Given the description of an element on the screen output the (x, y) to click on. 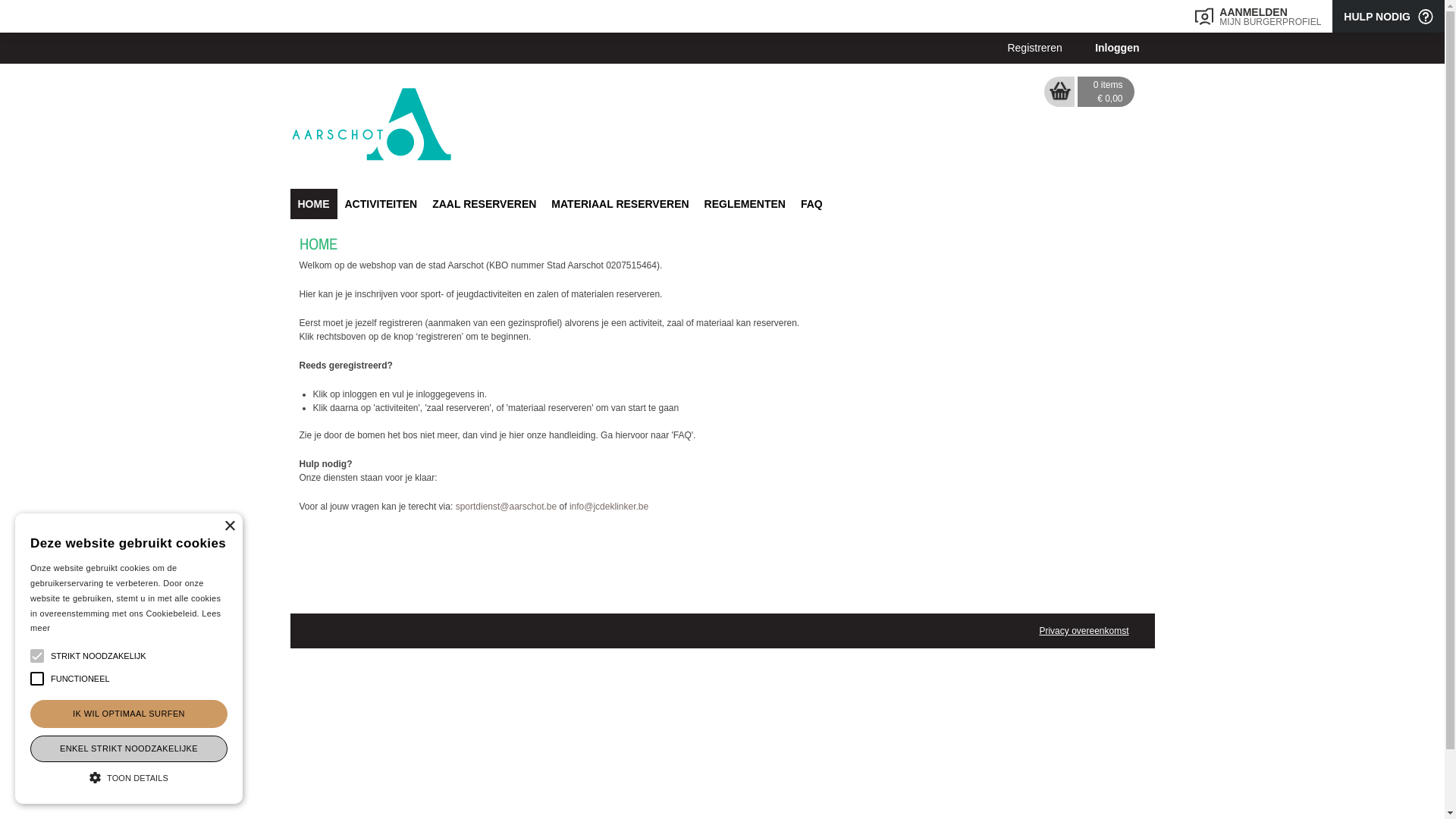
Inloggen Element type: text (1116, 47)
Lees meer Element type: text (125, 620)
FAQ Element type: text (811, 203)
ZAAL RESERVEREN Element type: text (483, 203)
info@jcdeklinker.be Element type: text (608, 506)
HOME Element type: text (312, 203)
REGLEMENTEN Element type: text (744, 203)
HULP NODIG Element type: text (1388, 16)
MATERIAAL RESERVEREN Element type: text (619, 203)
Aarschot Element type: hover (370, 123)
AANMELDEN
MIJN BURGERPROFIEL Element type: text (1258, 16)
sportdienst@aarschot.be Element type: text (506, 506)
Privacy overeenkomst Element type: text (1083, 630)
Registreren Element type: text (1033, 47)
ACTIVITEITEN Element type: text (380, 203)
